Given the description of an element on the screen output the (x, y) to click on. 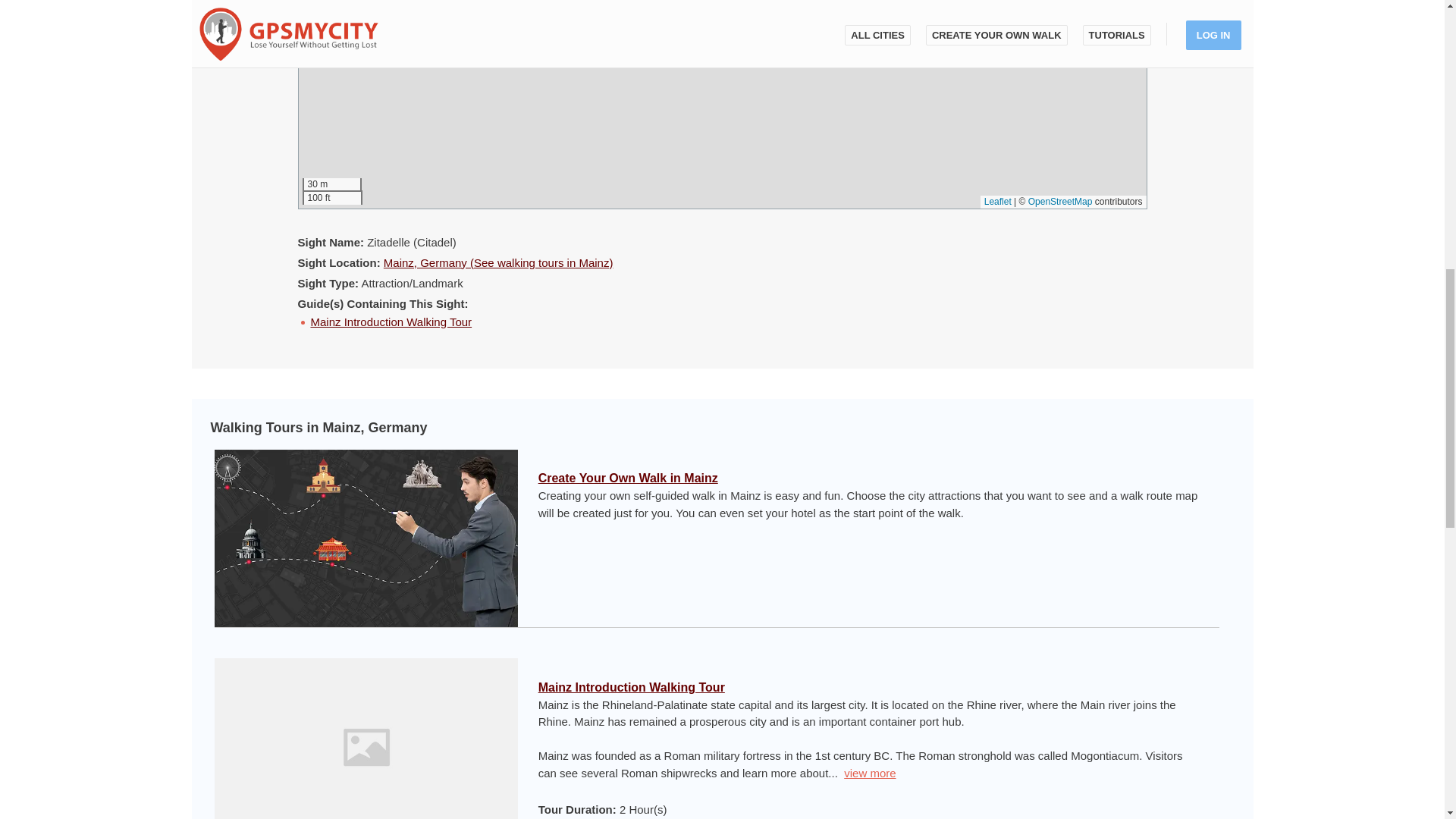
OpenStreetMap (1060, 201)
Mainz Introduction Walking Tour (391, 321)
Leaflet (997, 201)
view more (869, 772)
Mainz Introduction Walking Tour (631, 686)
Create Your Own Walk in Mainz (627, 477)
A JavaScript library for interactive maps (997, 201)
